Given the description of an element on the screen output the (x, y) to click on. 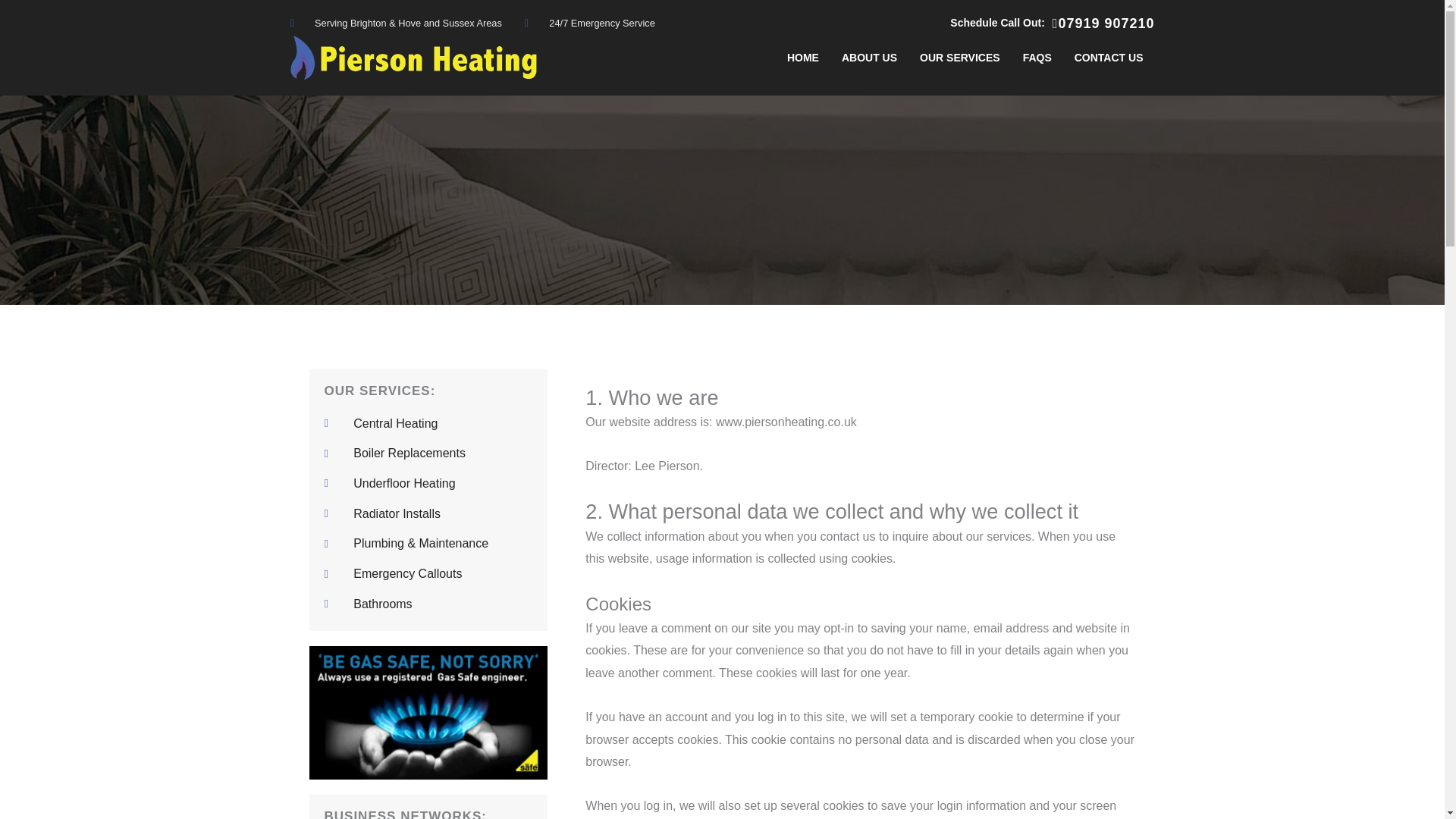
Schedule Call Out: (996, 22)
HOME (802, 57)
Bathrooms (428, 603)
Central Heating (428, 423)
ABOUT US (868, 57)
CONTACT US (1108, 57)
Boiler Replacements (428, 453)
Underfloor Heating (428, 483)
FAQS (1036, 57)
07919 907210 (1103, 23)
